Given the description of an element on the screen output the (x, y) to click on. 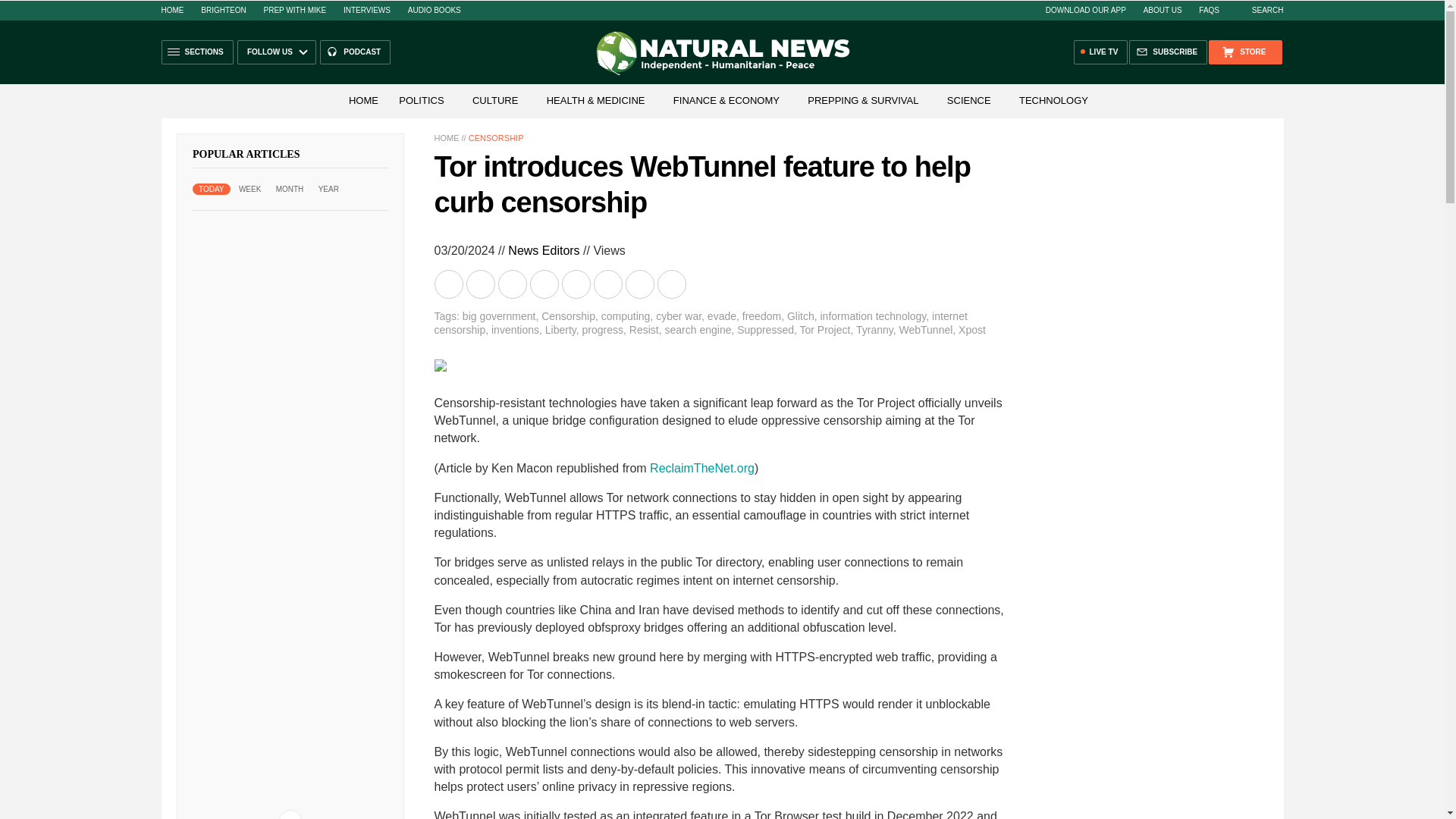
Share on Truth.Social (608, 284)
SCIENCE (968, 100)
More Share Options (672, 284)
CULTURE (495, 100)
FAQS (1209, 9)
Share on Gettr (640, 284)
Scroll Down (290, 814)
PODCAST (355, 52)
Share on Telegram (544, 284)
POLITICS (421, 100)
INTERVIEWS (366, 9)
STORE (1244, 52)
LIVE TV (1101, 52)
HOME (171, 9)
TECHNOLOGY (1053, 100)
